Given the description of an element on the screen output the (x, y) to click on. 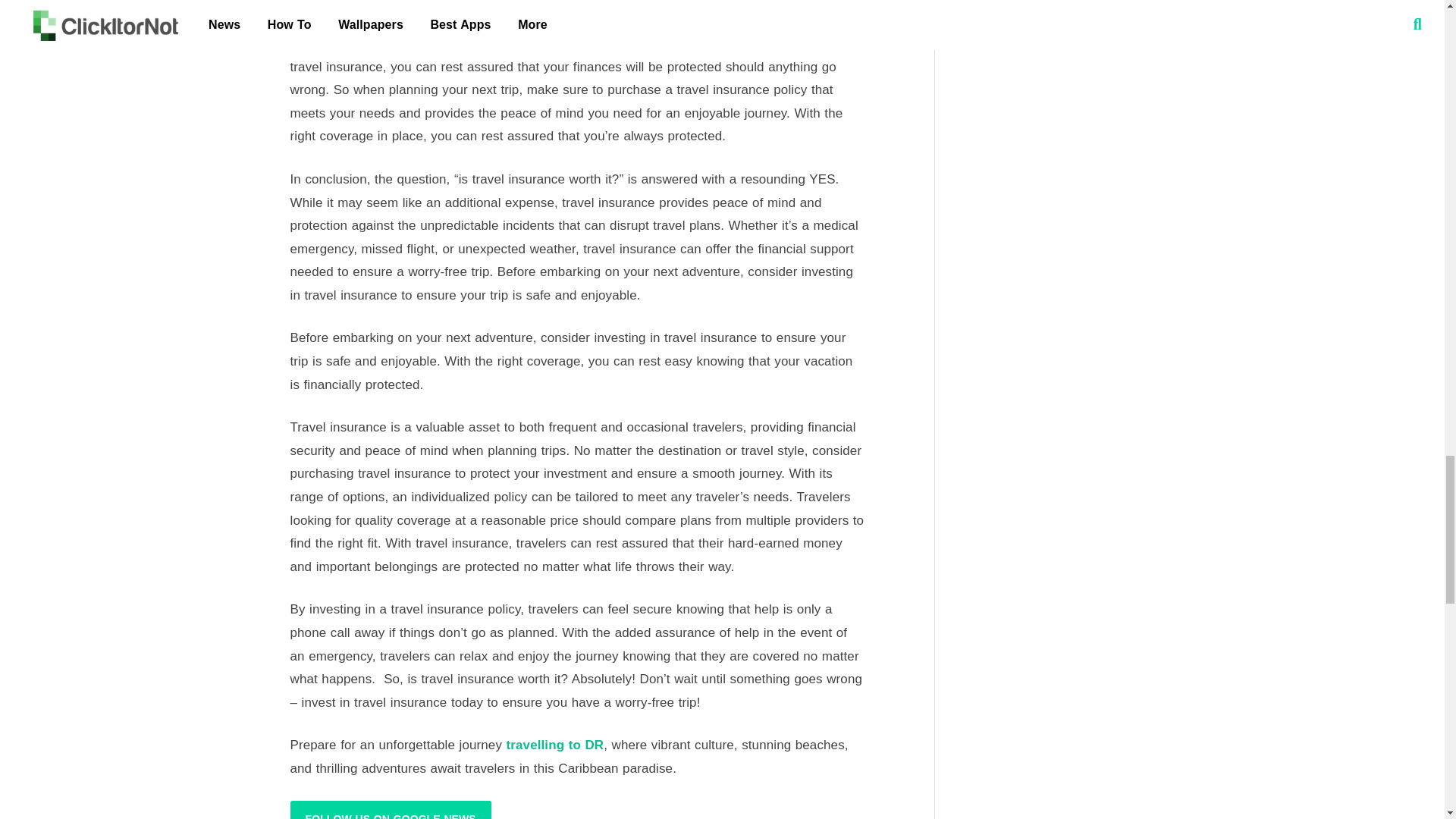
travelling to DR (555, 744)
FOLLOW US ON GOOGLE NEWS (389, 809)
